Given the description of an element on the screen output the (x, y) to click on. 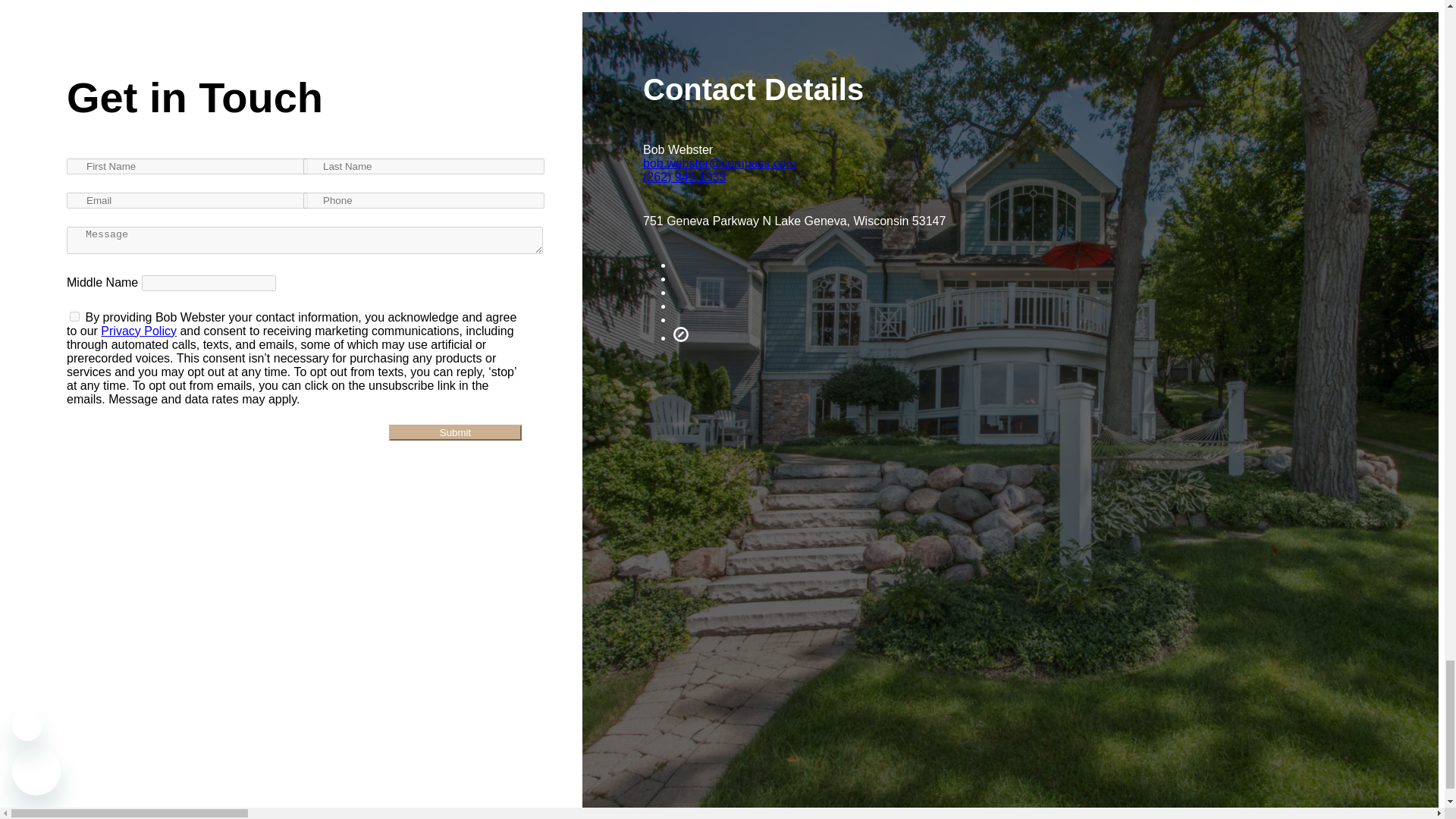
on (74, 316)
